Given the description of an element on the screen output the (x, y) to click on. 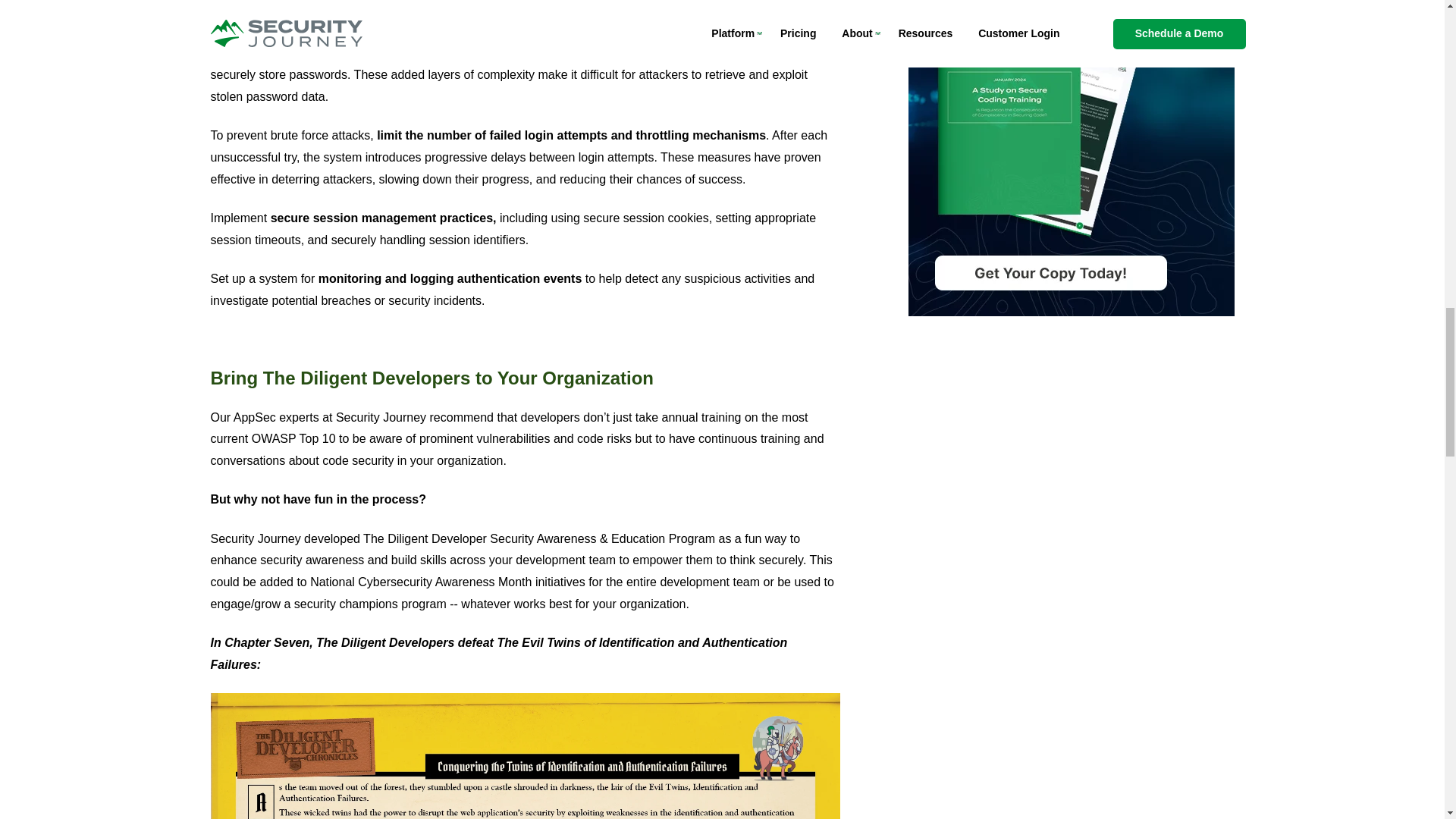
Embedded CTA (1071, 158)
